Given the description of an element on the screen output the (x, y) to click on. 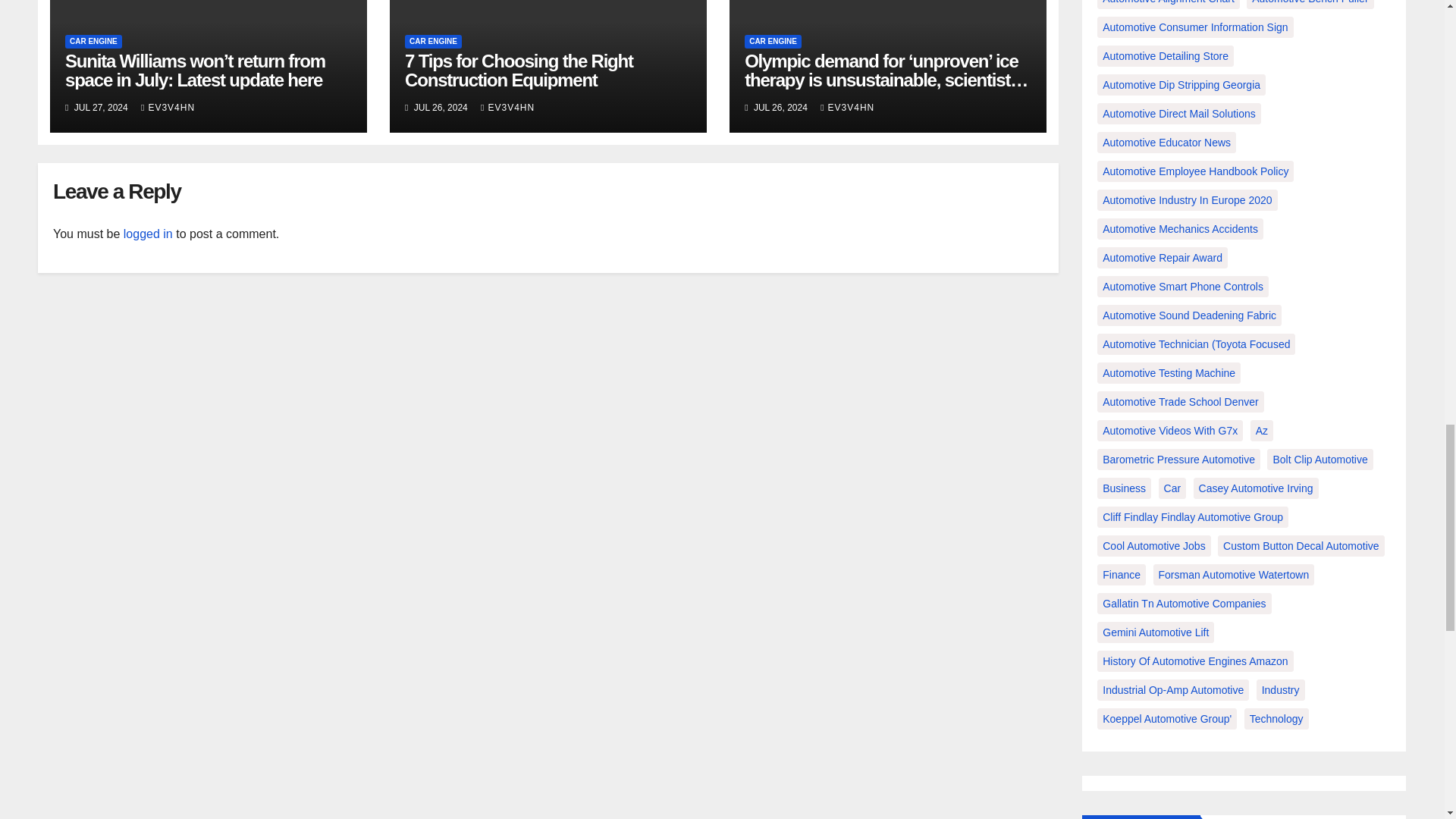
CAR ENGINE (93, 41)
